Given the description of an element on the screen output the (x, y) to click on. 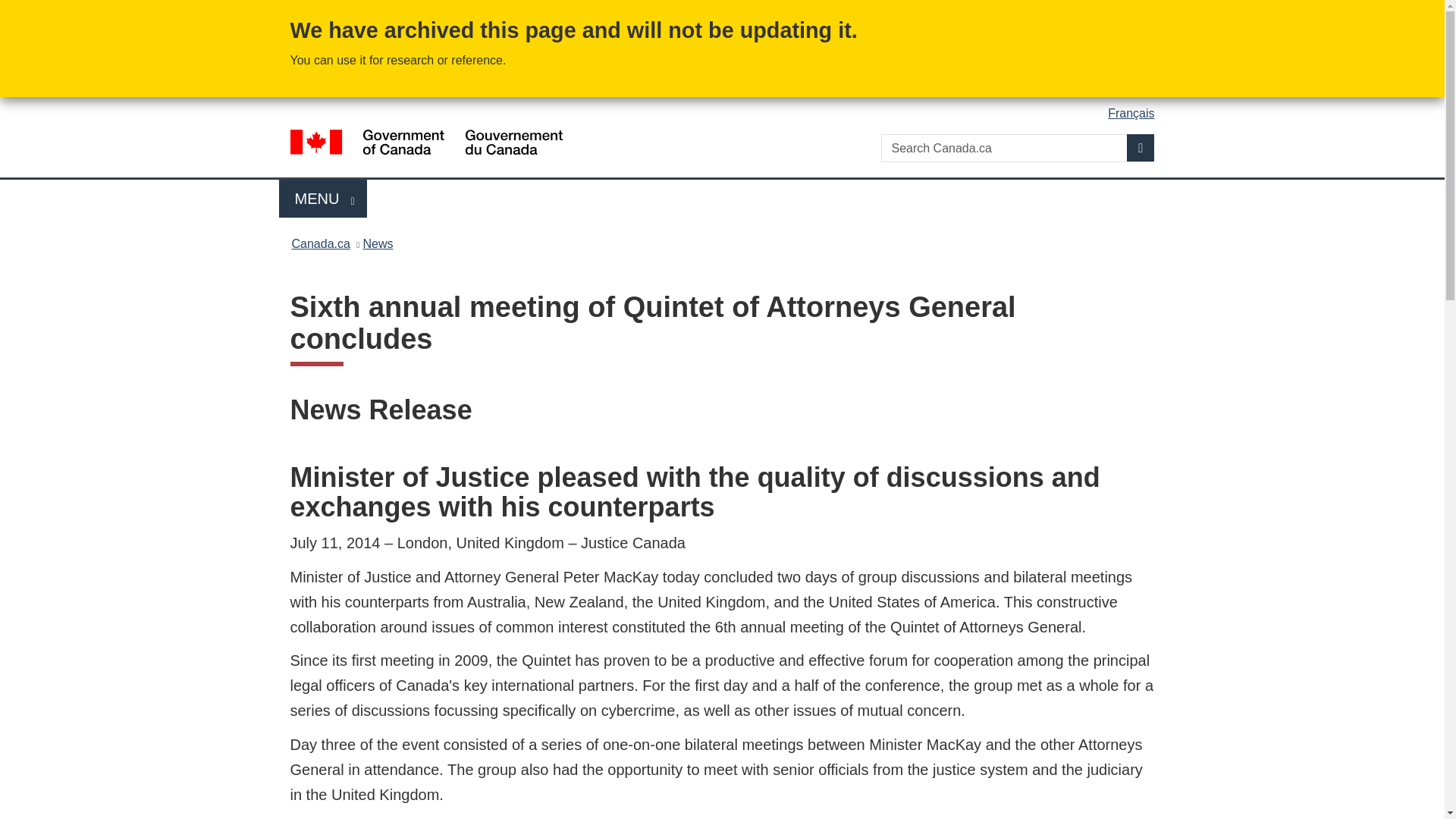
Skip to main content (725, 11)
Search (1140, 147)
News (322, 198)
Canada.ca (377, 243)
